Given the description of an element on the screen output the (x, y) to click on. 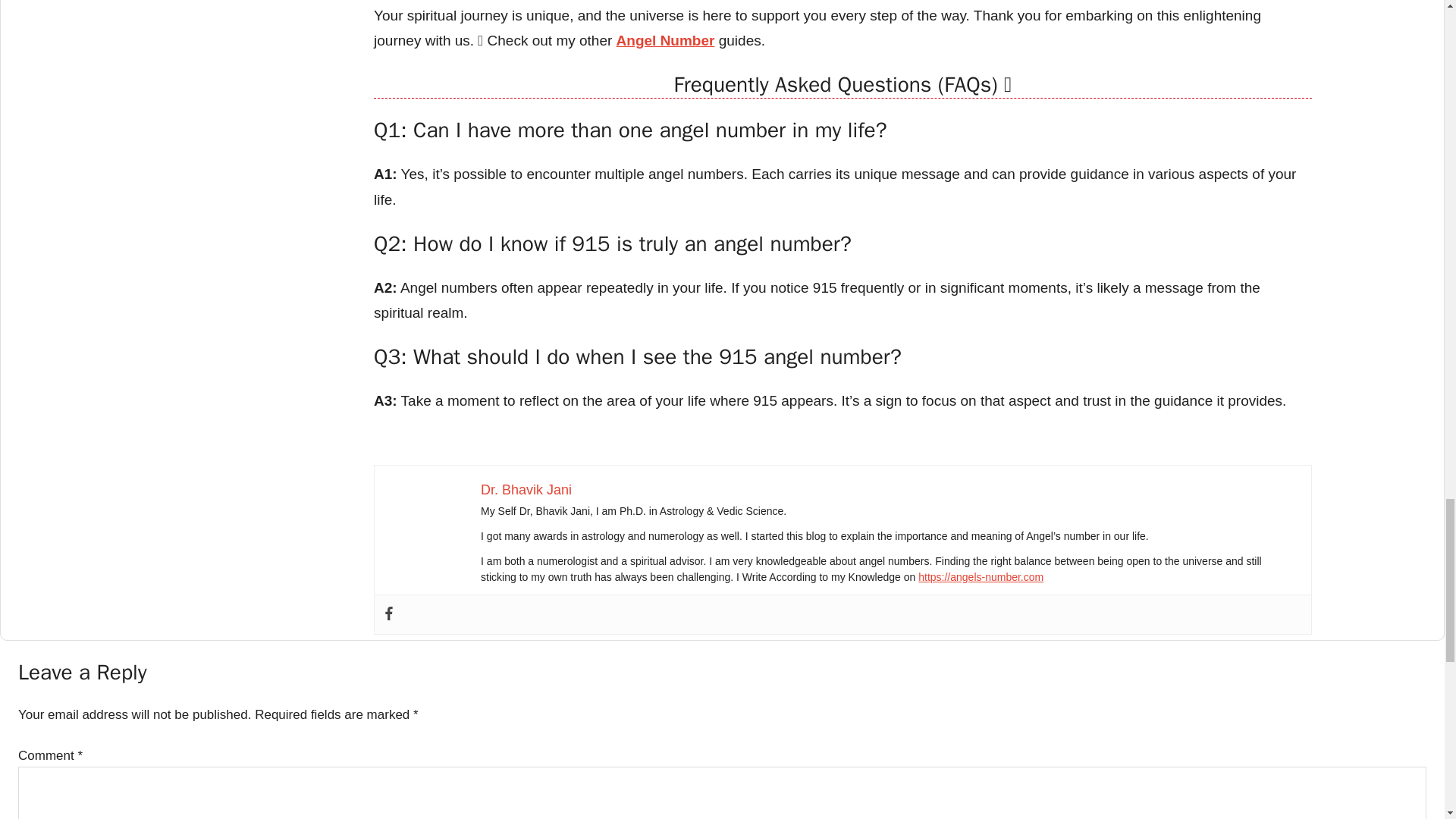
Angel Number (664, 40)
Facebook (388, 614)
Dr. Bhavik Jani (526, 489)
